Given the description of an element on the screen output the (x, y) to click on. 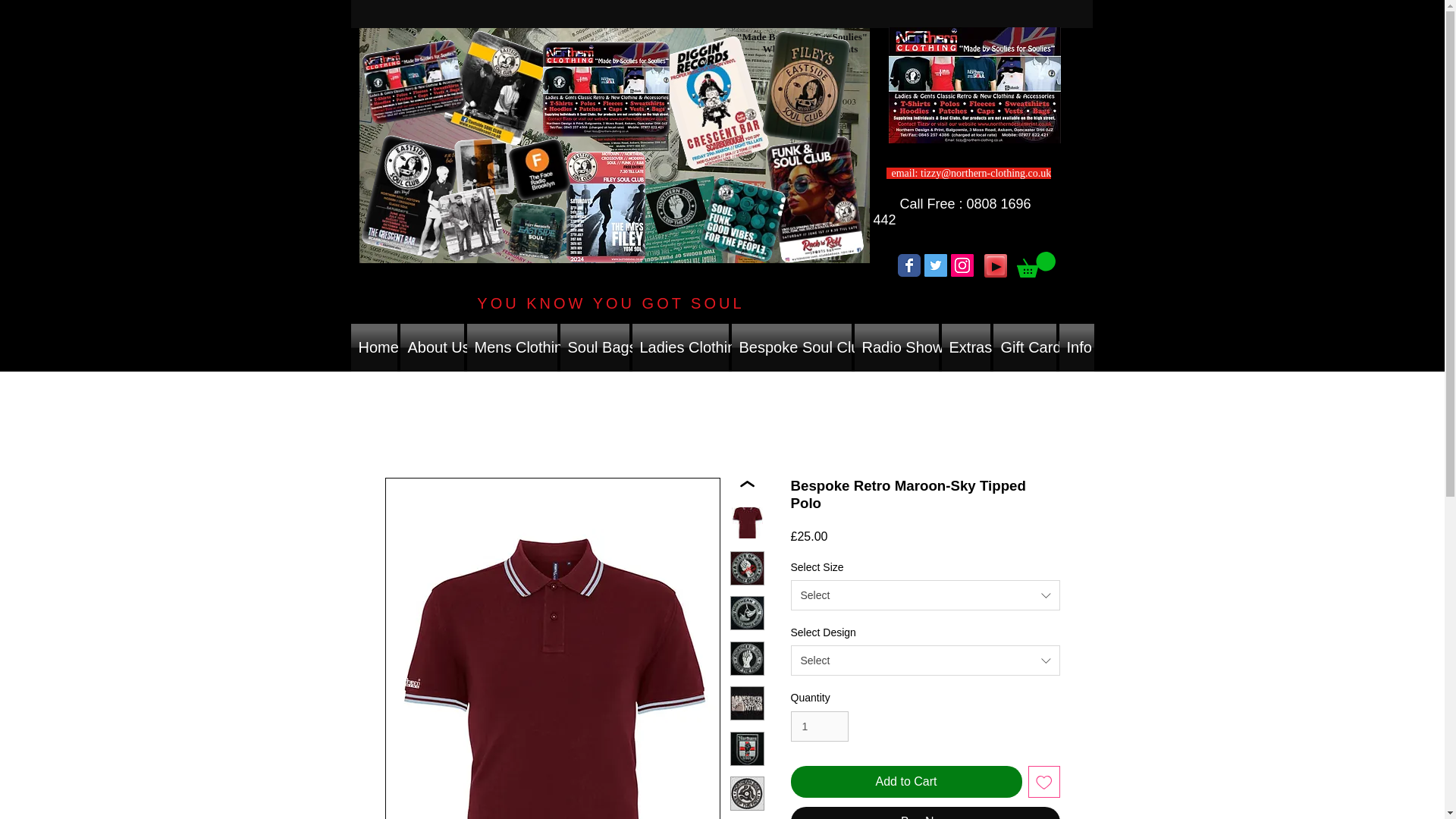
Home (373, 347)
Mens Clothing (512, 347)
About Us (431, 347)
Northern Clothing (974, 85)
Northern Clothing (614, 144)
1 (818, 726)
Soul Bags (593, 347)
Radio Shows (895, 347)
Bespoke Soul Clubs (790, 347)
Ladies Clothing (680, 347)
